Given the description of an element on the screen output the (x, y) to click on. 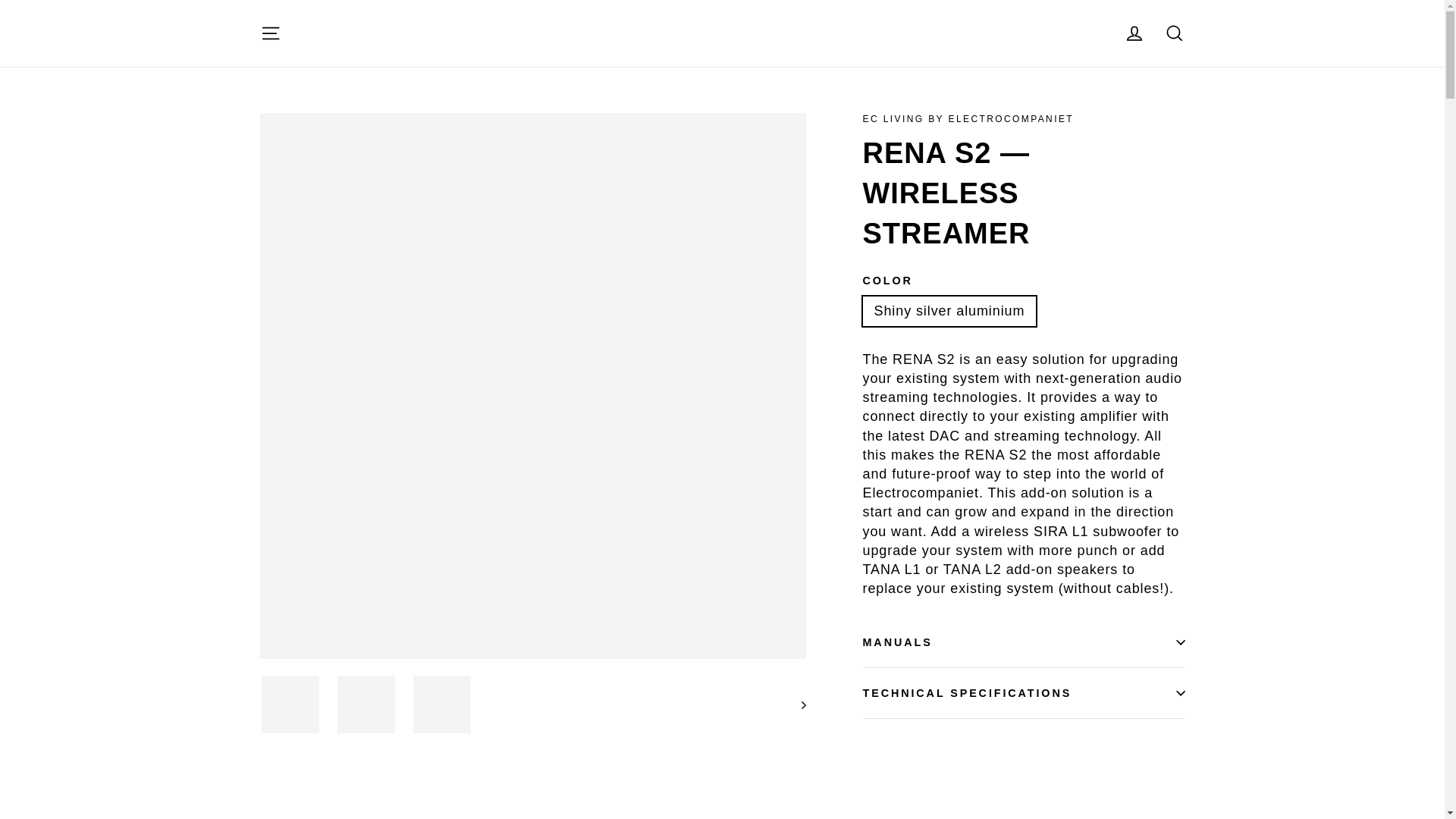
account (1134, 33)
icon-hamburger (270, 33)
EC LIVING BY ELECTROCOMPANIET (968, 118)
icon-search (1174, 33)
